Given the description of an element on the screen output the (x, y) to click on. 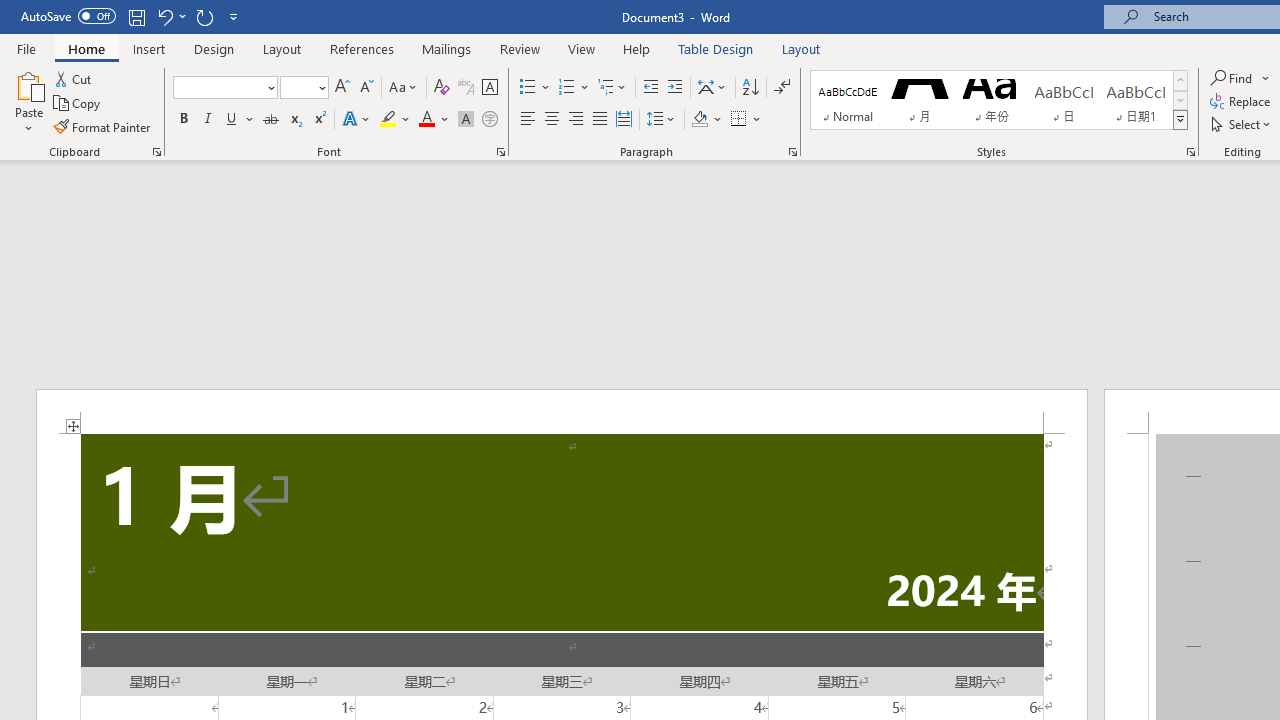
Increase Indent (675, 87)
Subscript (294, 119)
Shading RGB(0, 0, 0) (699, 119)
Line and Paragraph Spacing (661, 119)
Header -Section 1- (561, 411)
Italic (207, 119)
Text Effects and Typography (357, 119)
Replace... (1242, 101)
Undo Apply Quick Style (164, 15)
Copy (78, 103)
